Given the description of an element on the screen output the (x, y) to click on. 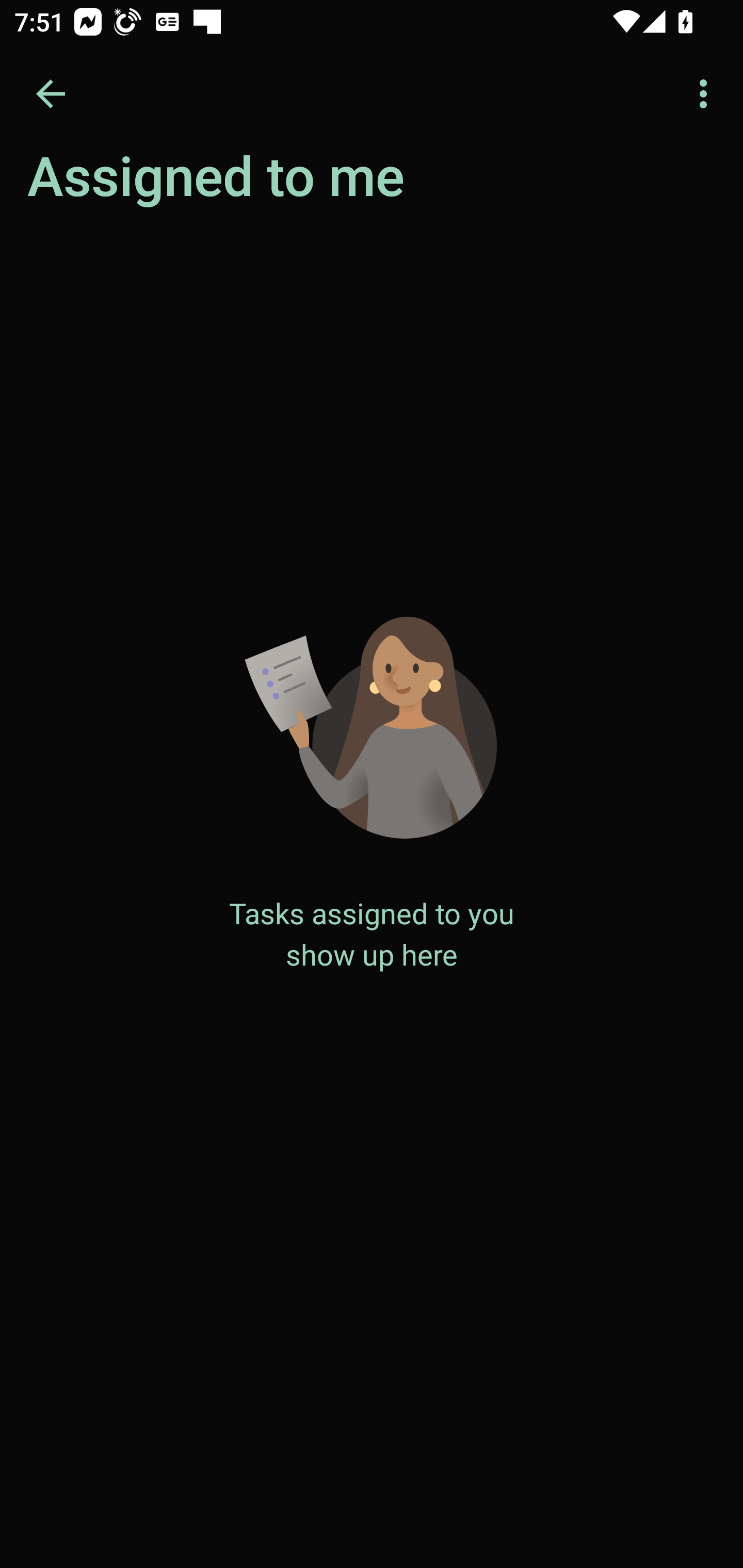
Back (50, 93)
More options (706, 93)
